Given the description of an element on the screen output the (x, y) to click on. 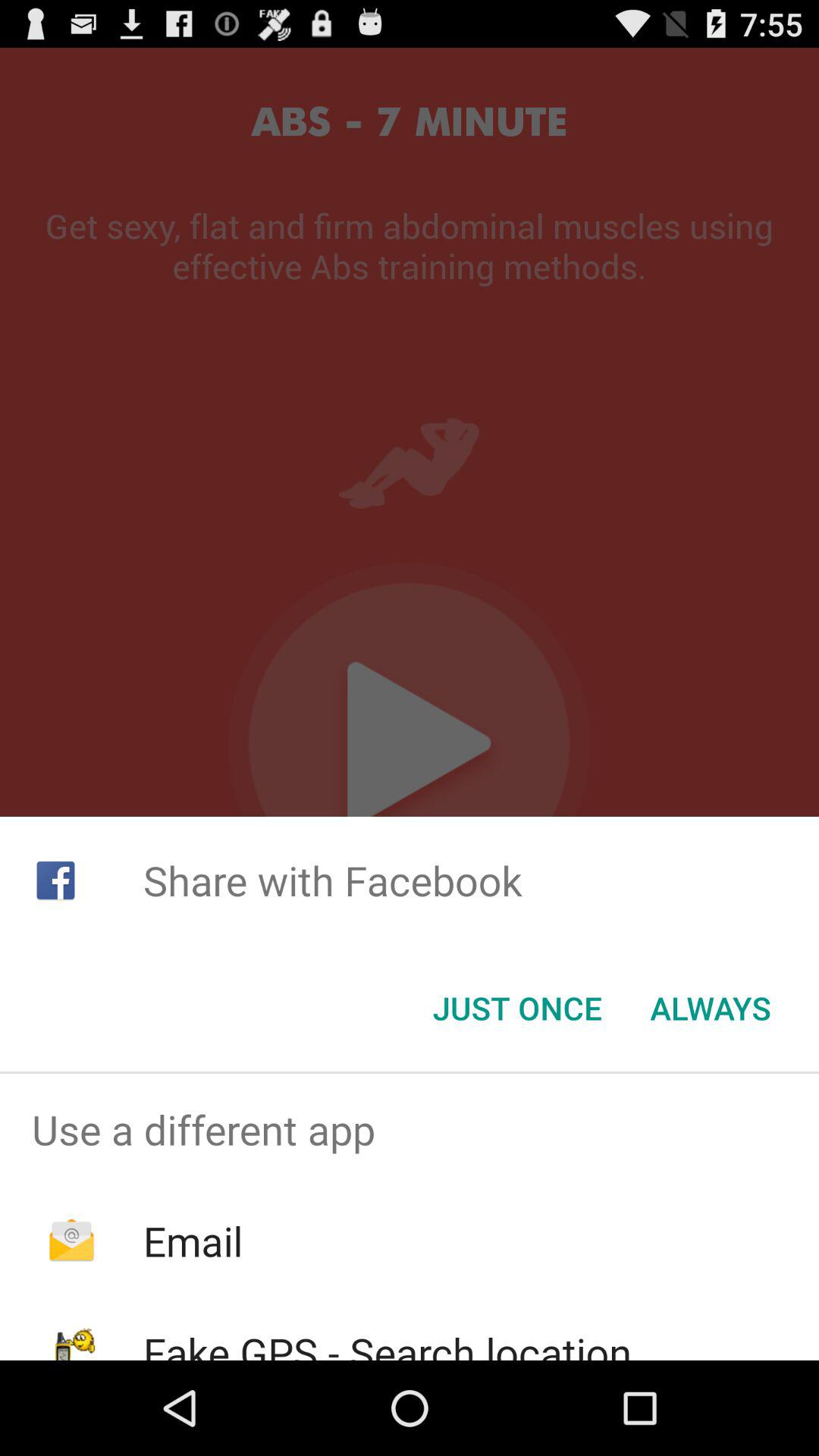
press the email (192, 1240)
